Given the description of an element on the screen output the (x, y) to click on. 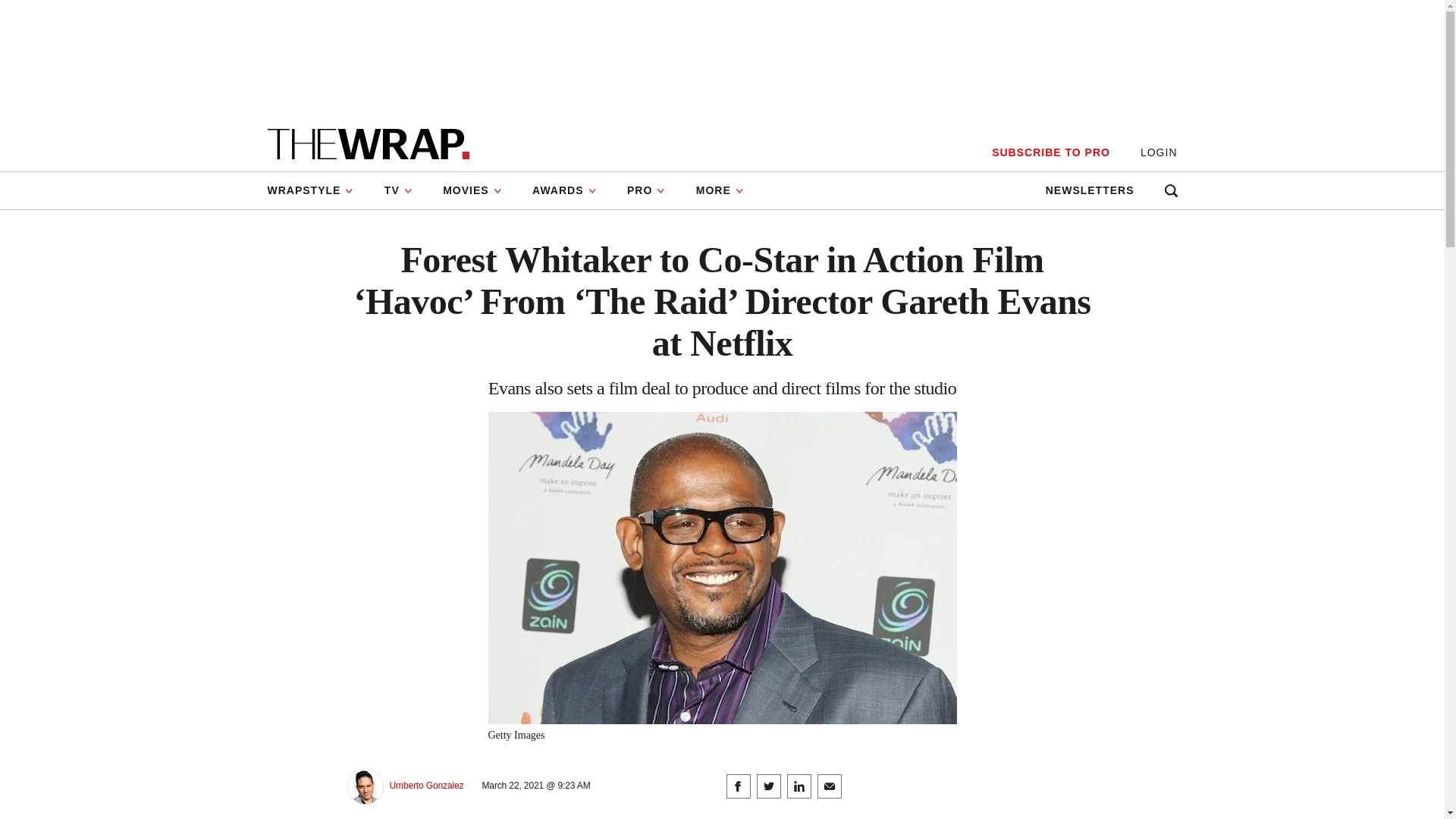
PRO (646, 190)
TV (398, 190)
AWARDS (563, 190)
Posts by Umberto Gonzalez (427, 785)
LOGIN (1158, 152)
MORE (719, 190)
SUBSCRIBE TO PRO (1050, 152)
MOVIES (472, 190)
WRAPSTYLE (317, 190)
